Given the description of an element on the screen output the (x, y) to click on. 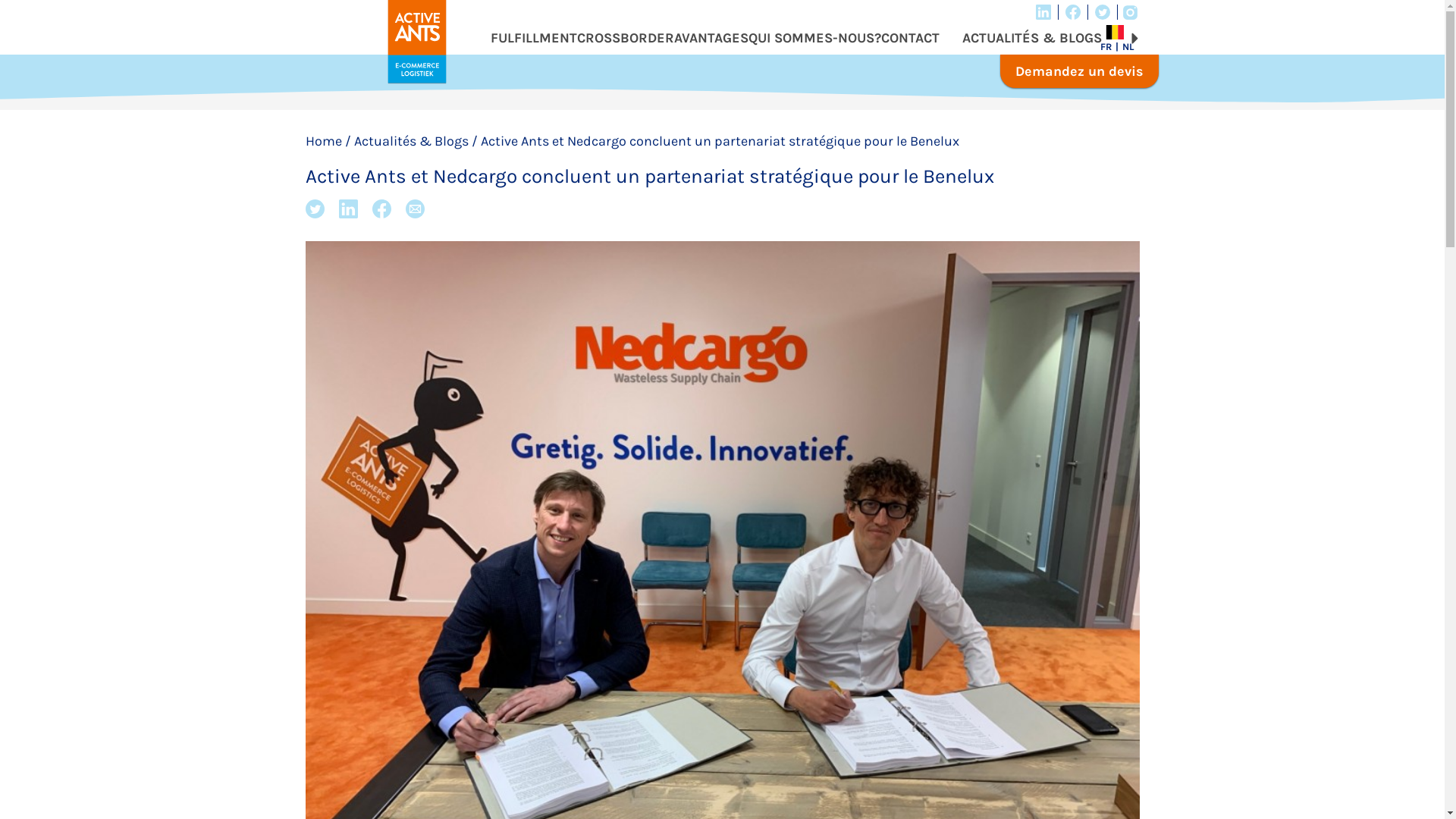
FR Element type: text (1110, 46)
Demandez un devis Element type: text (1078, 70)
AVANTAGES Element type: text (710, 37)
CONTACT Element type: text (910, 37)
FULFILLMENT Element type: text (532, 37)
QUI SOMMES-NOUS? Element type: text (813, 37)
CROSSBORDER Element type: text (624, 37)
Home Element type: text (322, 140)
NL Element type: text (1127, 46)
